Given the description of an element on the screen output the (x, y) to click on. 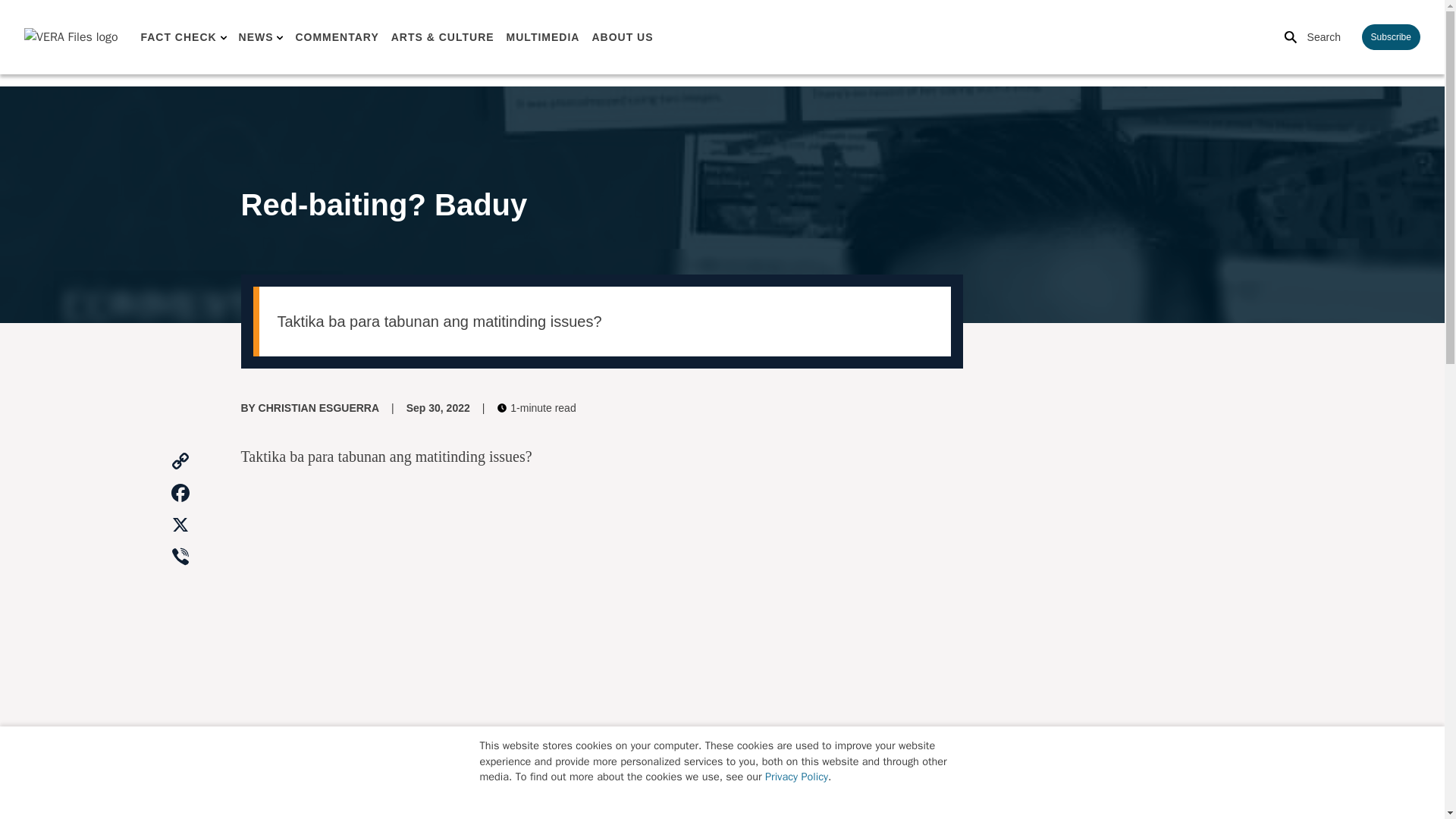
X (180, 525)
Facebook (180, 493)
Facebook (180, 493)
FACT CHECK (177, 37)
Viber (180, 557)
Copy Link (180, 461)
COMMENTARY (336, 37)
NEWS (255, 37)
Copy Link (180, 461)
MULTIMEDIA (542, 37)
ABOUT US (621, 37)
Subscribe (1391, 36)
